Given the description of an element on the screen output the (x, y) to click on. 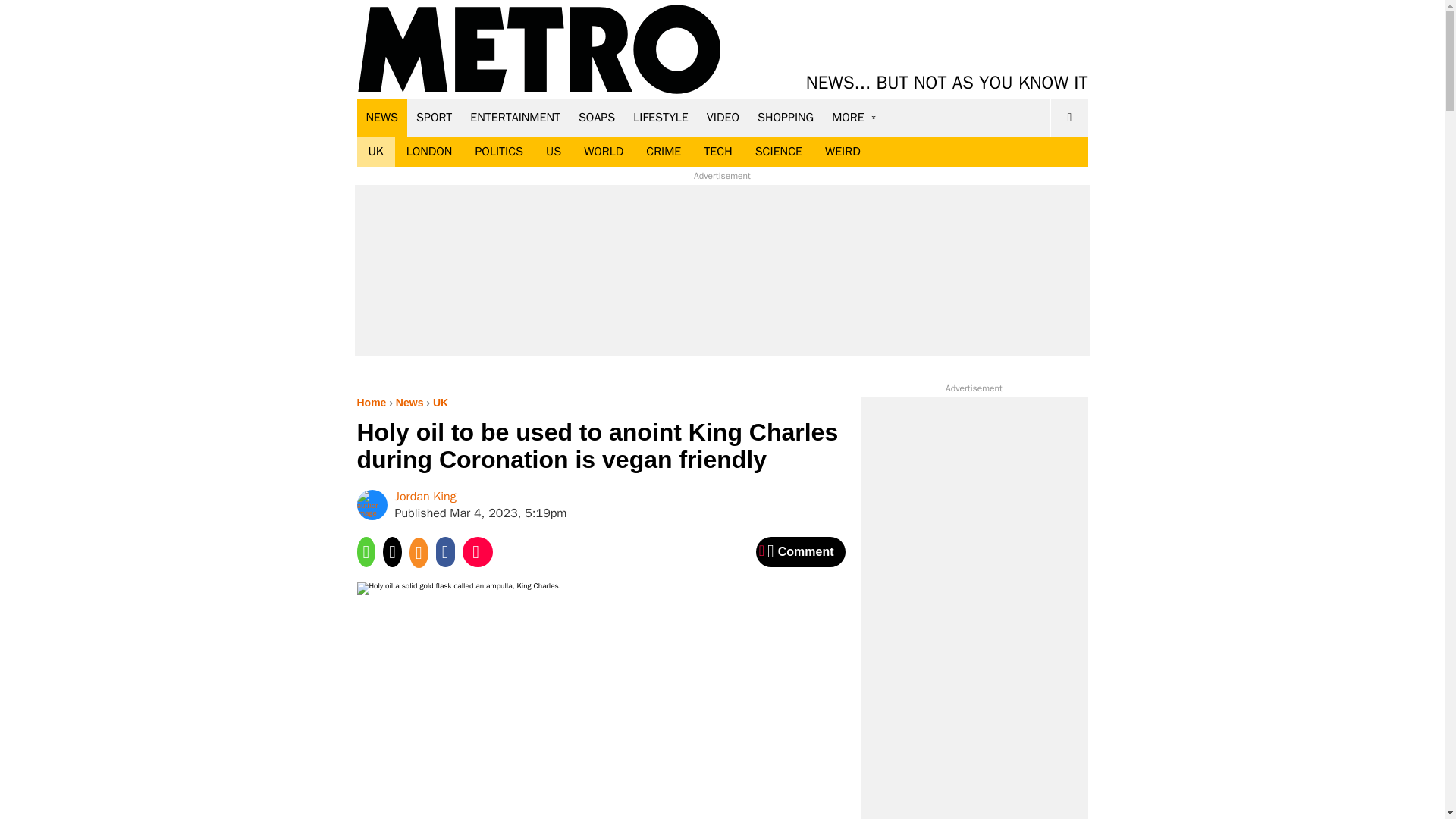
Metro (539, 50)
SOAPS (596, 117)
LONDON (429, 151)
SCIENCE (778, 151)
US (553, 151)
SPORT (434, 117)
WORLD (603, 151)
TECH (717, 151)
LIFESTYLE (660, 117)
CRIME (663, 151)
